Given the description of an element on the screen output the (x, y) to click on. 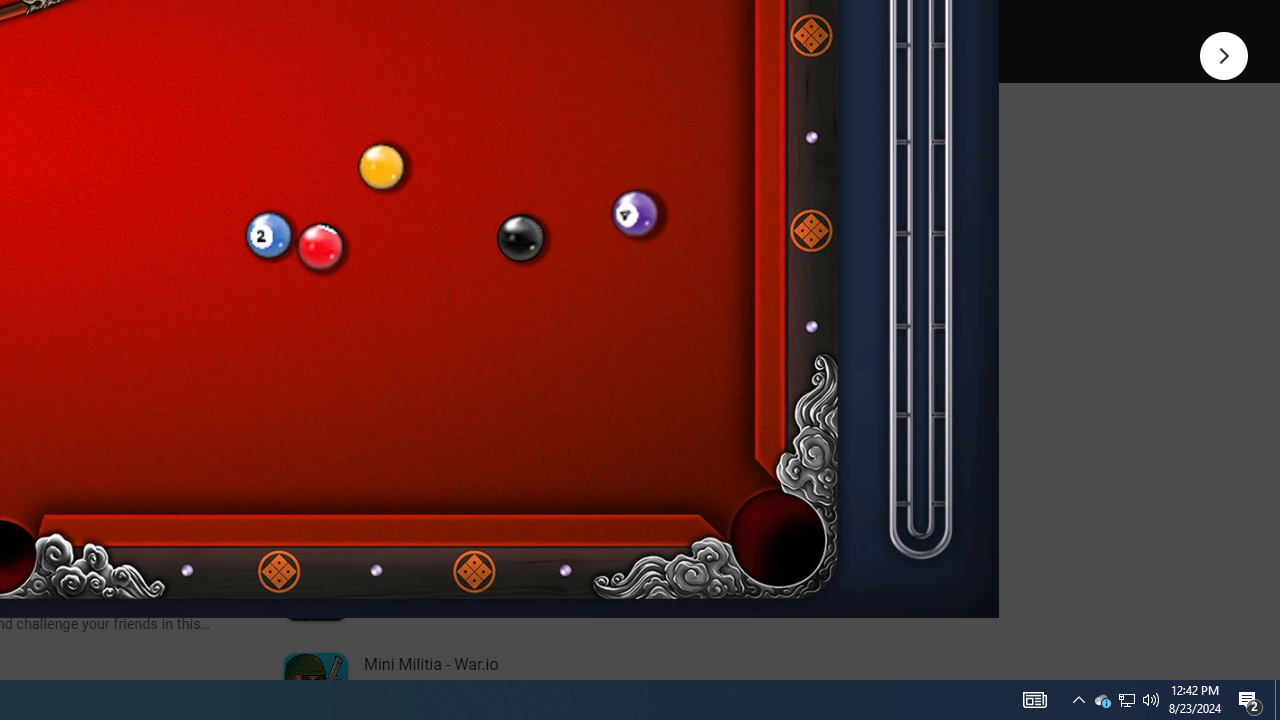
Scroll Next (212, 272)
Play trailer (587, 24)
Expand (441, 155)
See more information on More by Miniclip.com (530, 229)
Next (1224, 54)
